Given the description of an element on the screen output the (x, y) to click on. 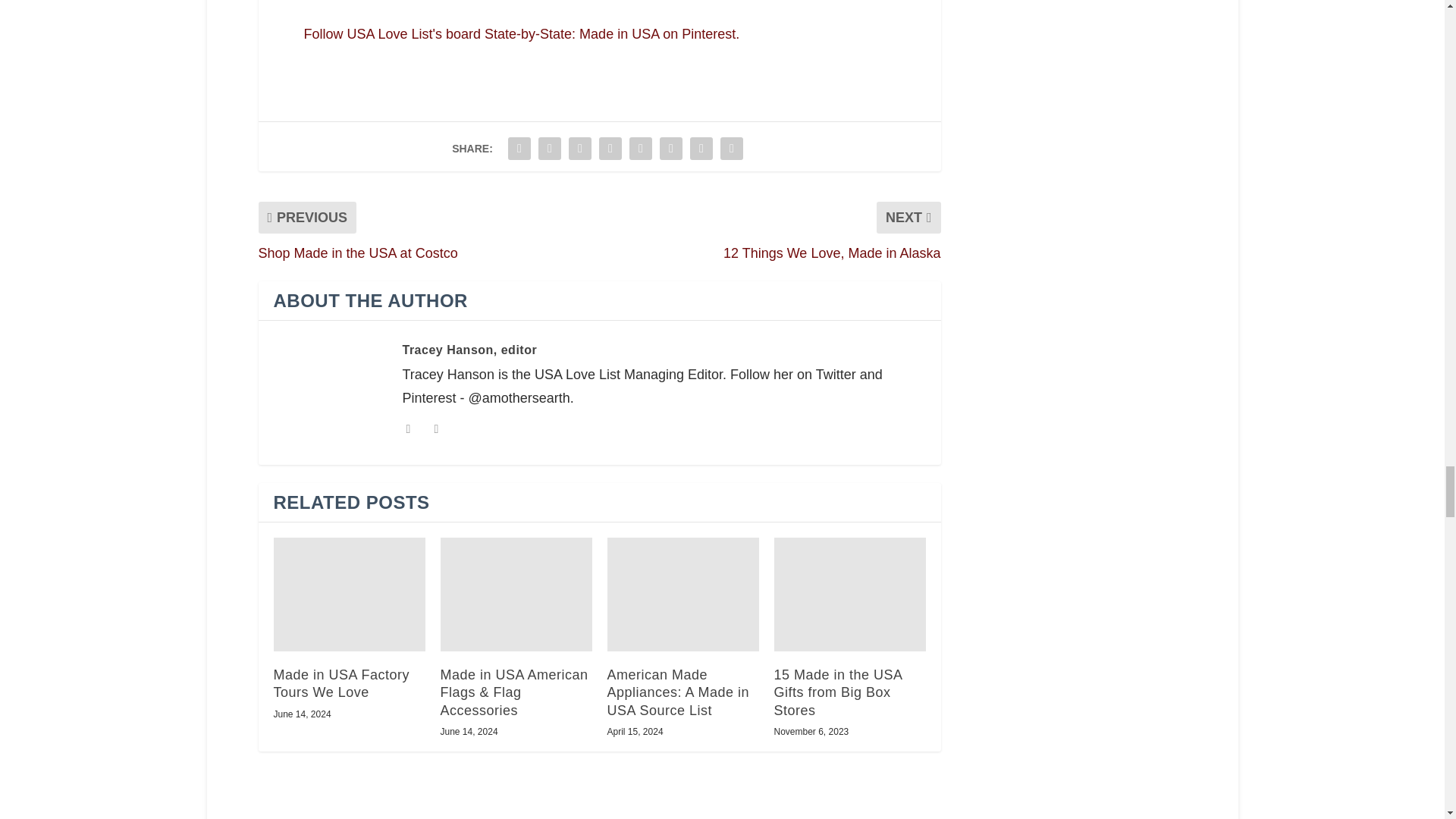
Share "Products We Love: Made in Ohio" via Facebook (518, 148)
Share "Products We Love: Made in Ohio" via Twitter (549, 148)
Share "Products We Love: Made in Ohio" via Tumblr (579, 148)
Share "Products We Love: Made in Ohio" via Pinterest (610, 148)
